Given the description of an element on the screen output the (x, y) to click on. 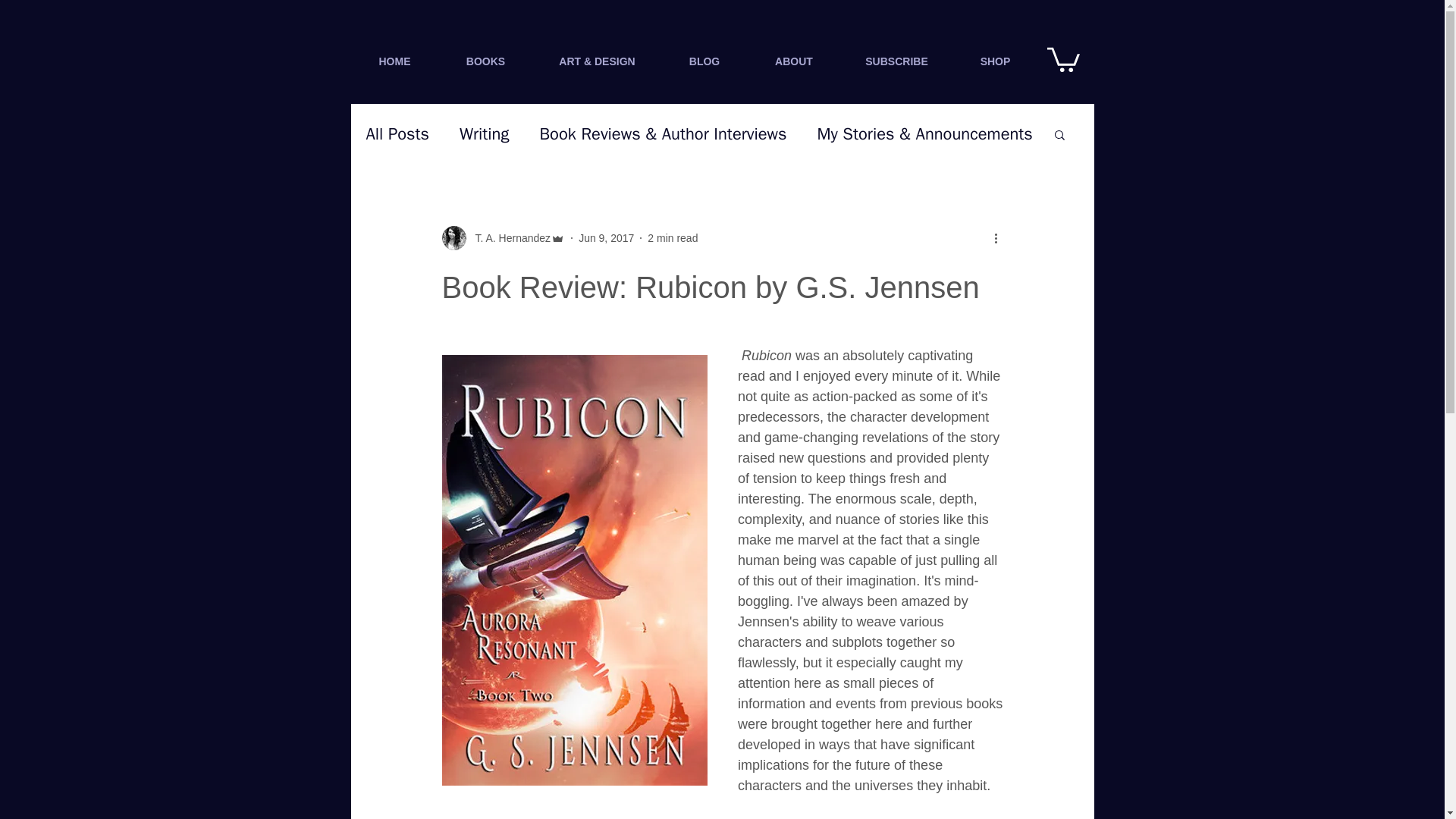
Jun 9, 2017 (605, 237)
T. A. Hernandez (502, 238)
SHOP (994, 61)
SUBSCRIBE (896, 61)
2 min read (672, 237)
ABOUT (794, 61)
Writing (484, 133)
T. A. Hernandez (507, 238)
All Posts (397, 133)
BLOG (703, 61)
HOME (394, 61)
